Given the description of an element on the screen output the (x, y) to click on. 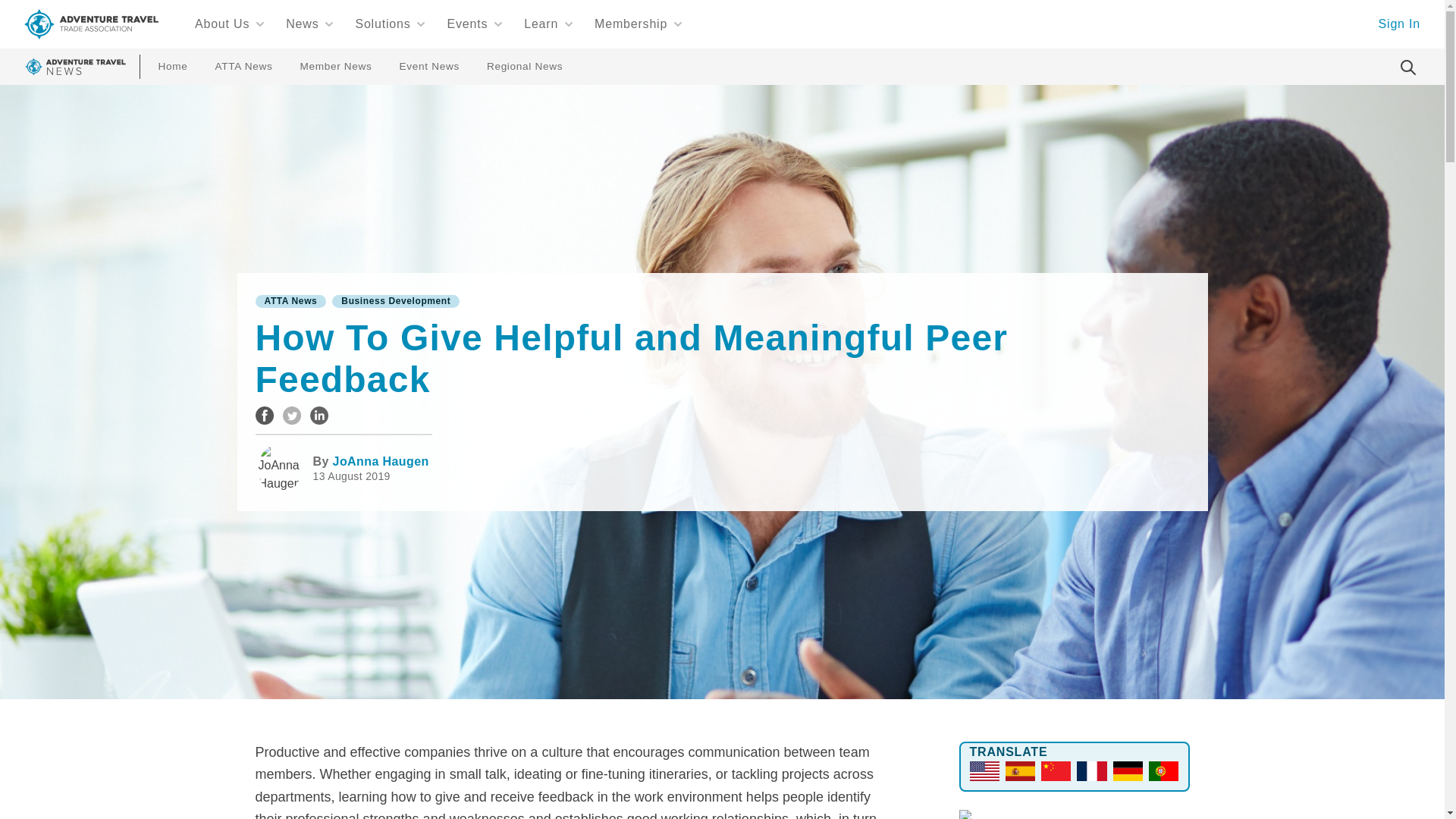
About Us (229, 24)
News (309, 24)
Events (474, 24)
Solutions (390, 24)
